Given the description of an element on the screen output the (x, y) to click on. 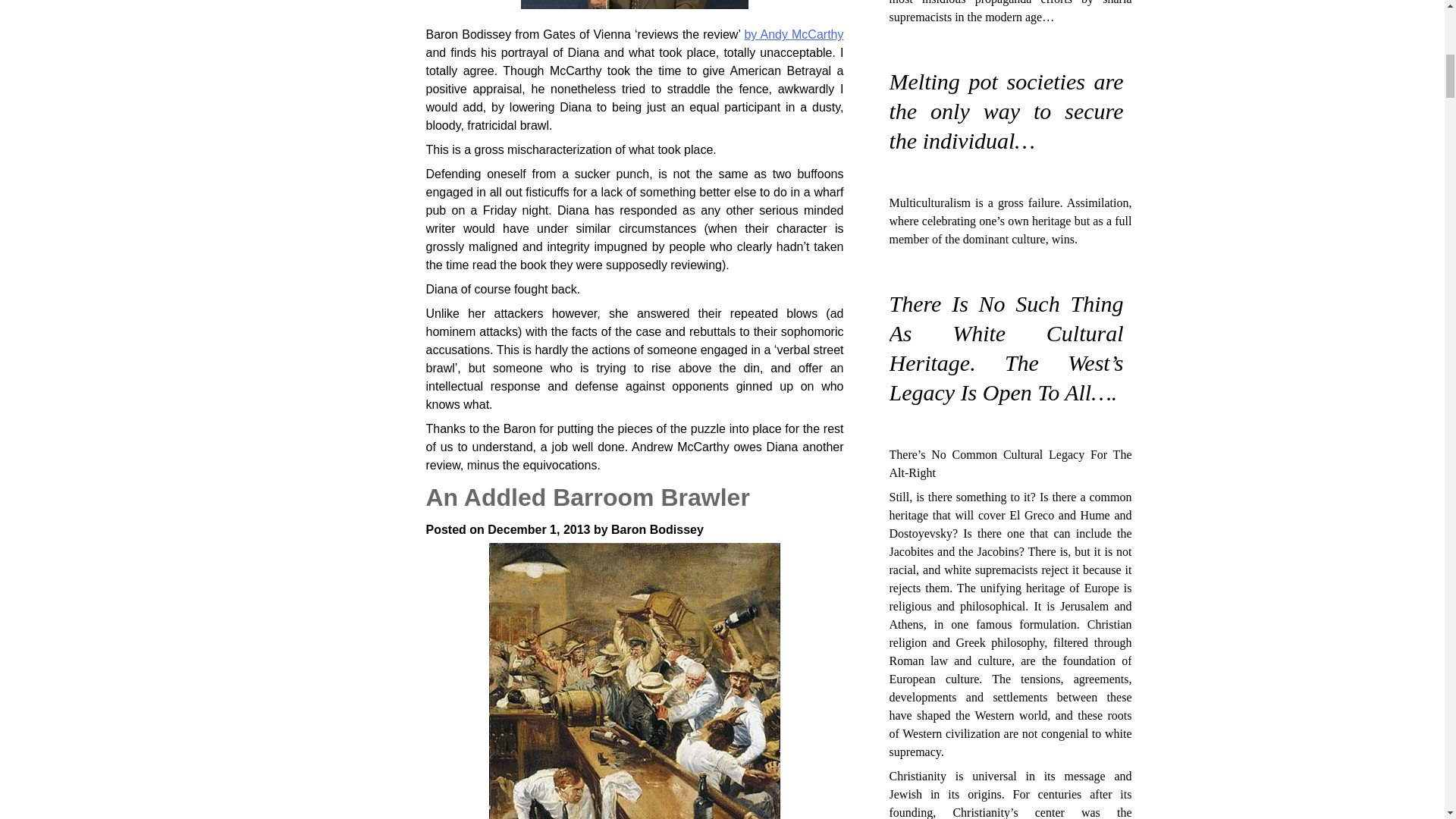
Anton Otto Fischer: 'A Barroom Brawl' 1912 (634, 680)
by Andy McCarthy (793, 33)
